Given the description of an element on the screen output the (x, y) to click on. 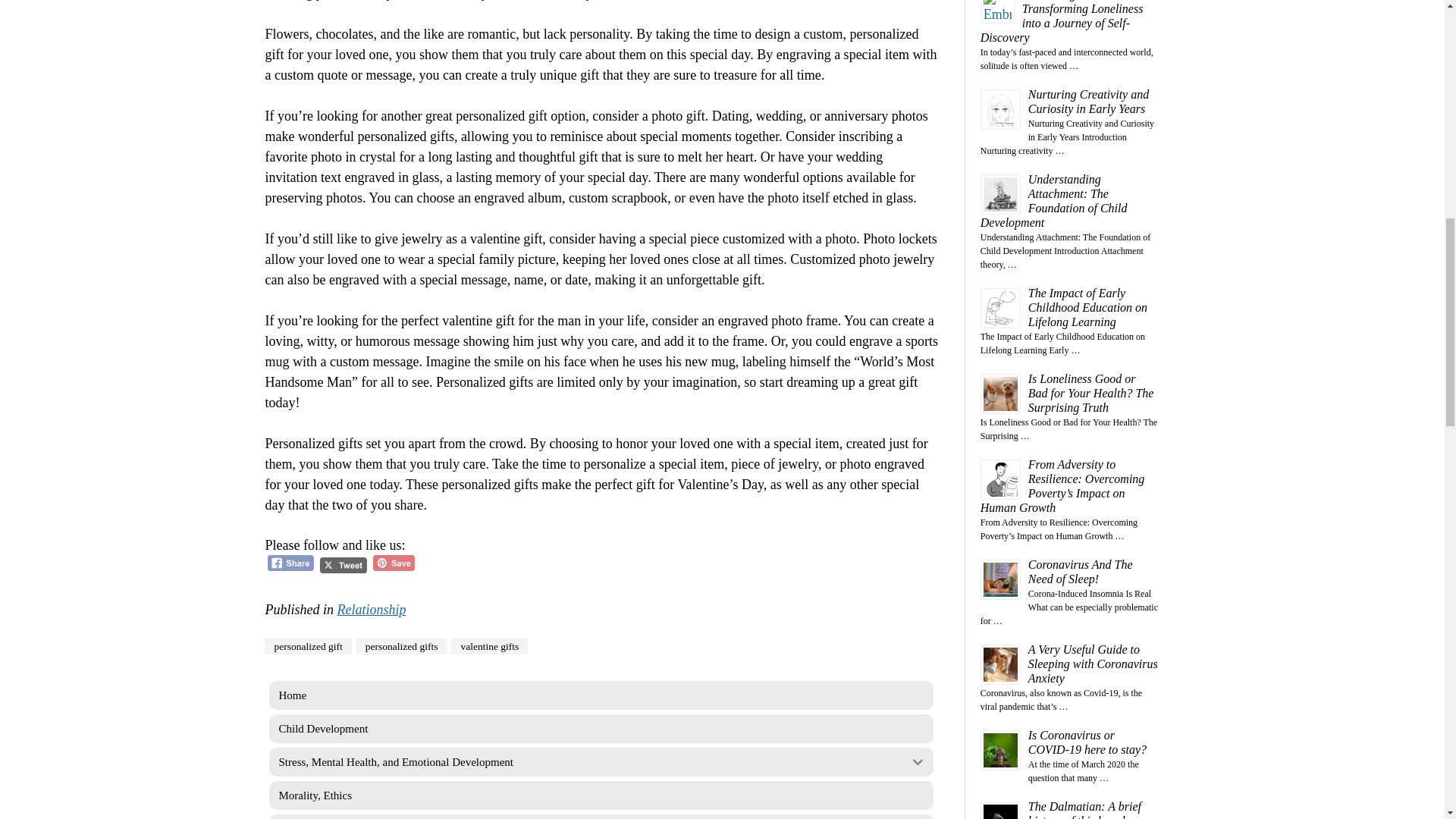
View all posts in Relationship (371, 609)
Facebook Share (290, 562)
Pin Share (393, 562)
View all posts tagged valentine gifts (489, 646)
View all posts tagged personalized gifts (401, 646)
Tweet (343, 565)
View all posts tagged personalized gift (307, 646)
